Given the description of an element on the screen output the (x, y) to click on. 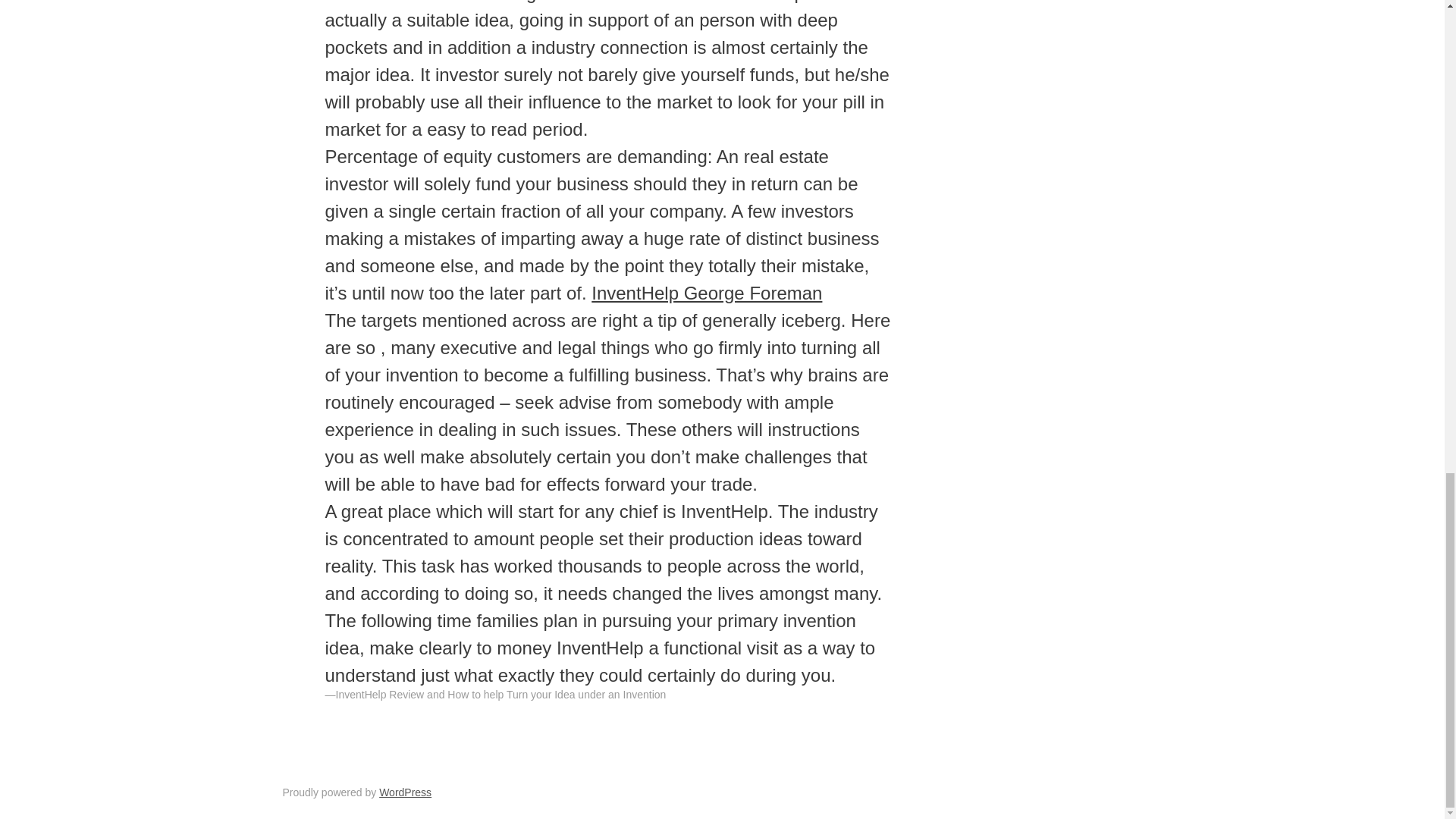
InventHelp George Foreman (706, 292)
WordPress (404, 792)
